Given the description of an element on the screen output the (x, y) to click on. 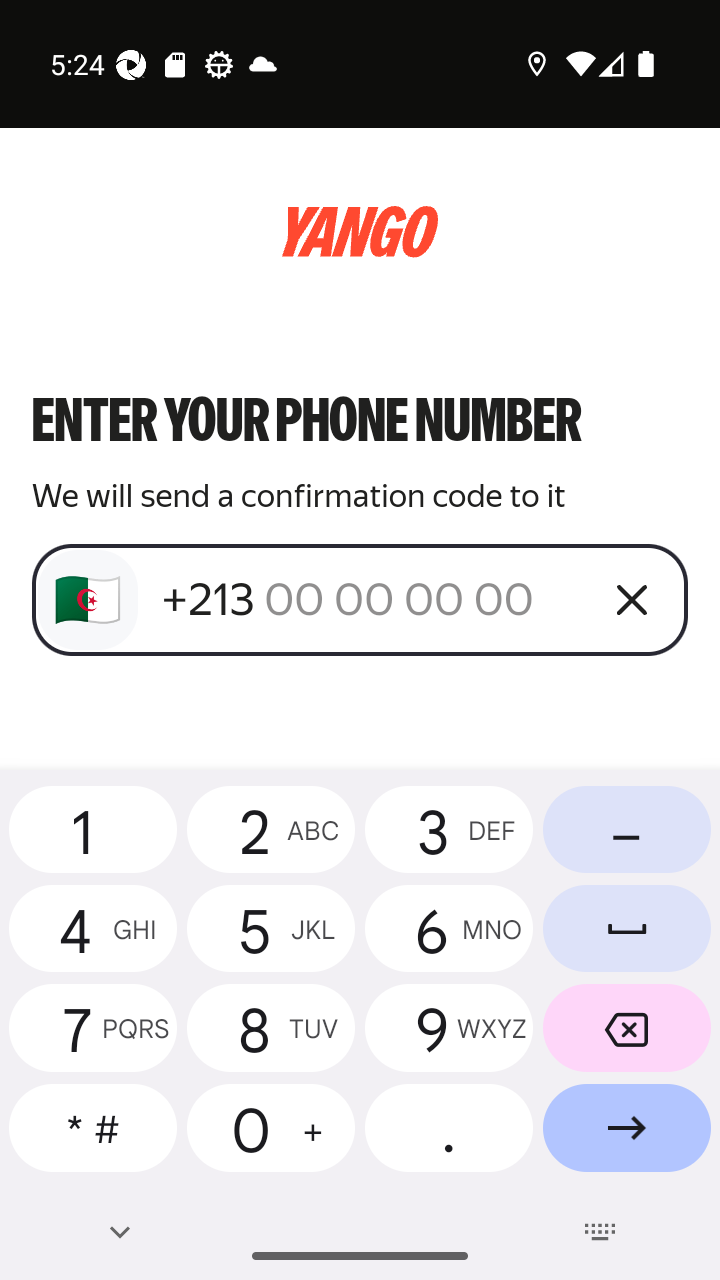
logo (359, 231)
🇩🇿 (88, 600)
+213 (372, 599)
